Given the description of an element on the screen output the (x, y) to click on. 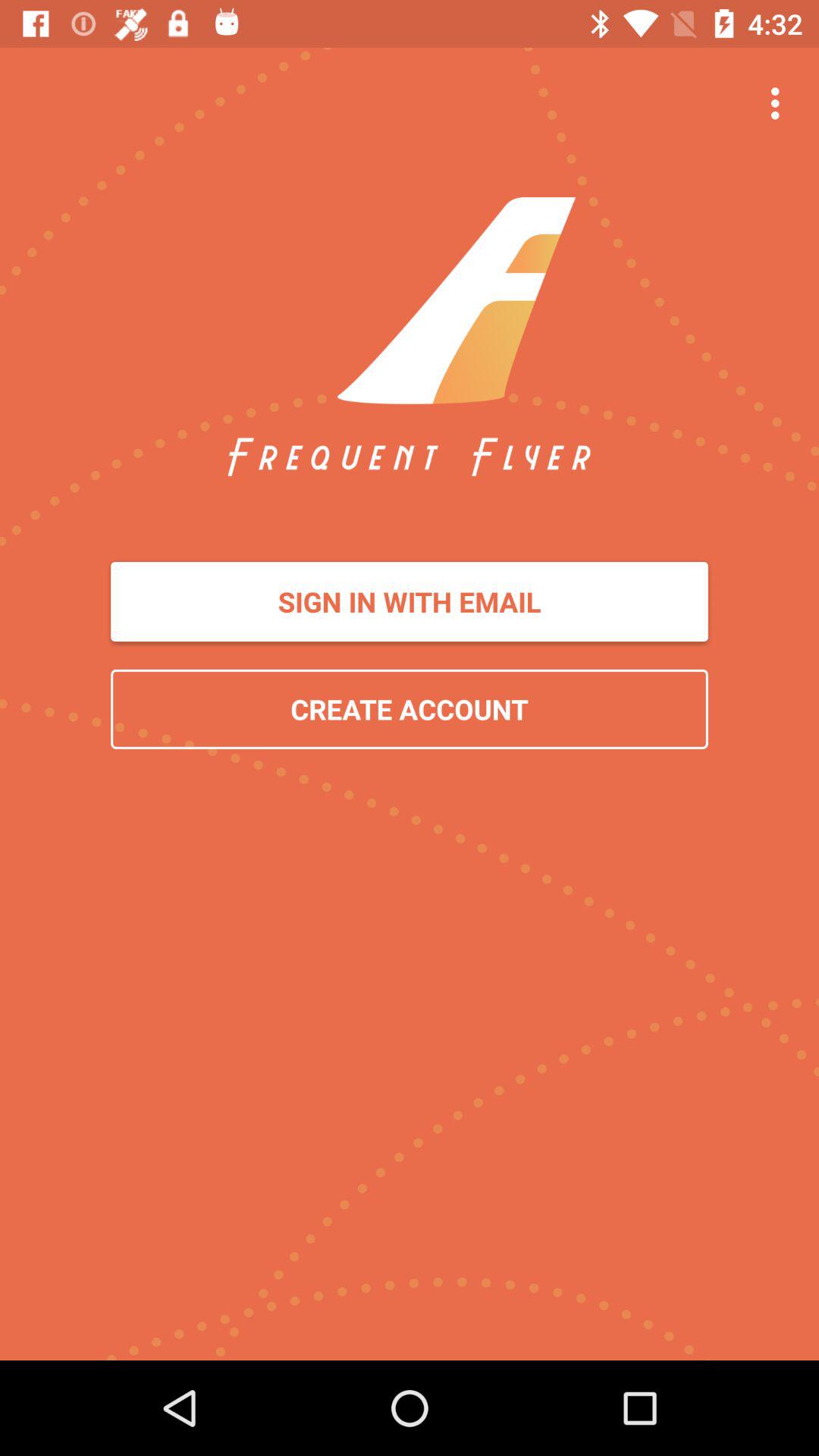
choose the create account item (409, 709)
